Given the description of an element on the screen output the (x, y) to click on. 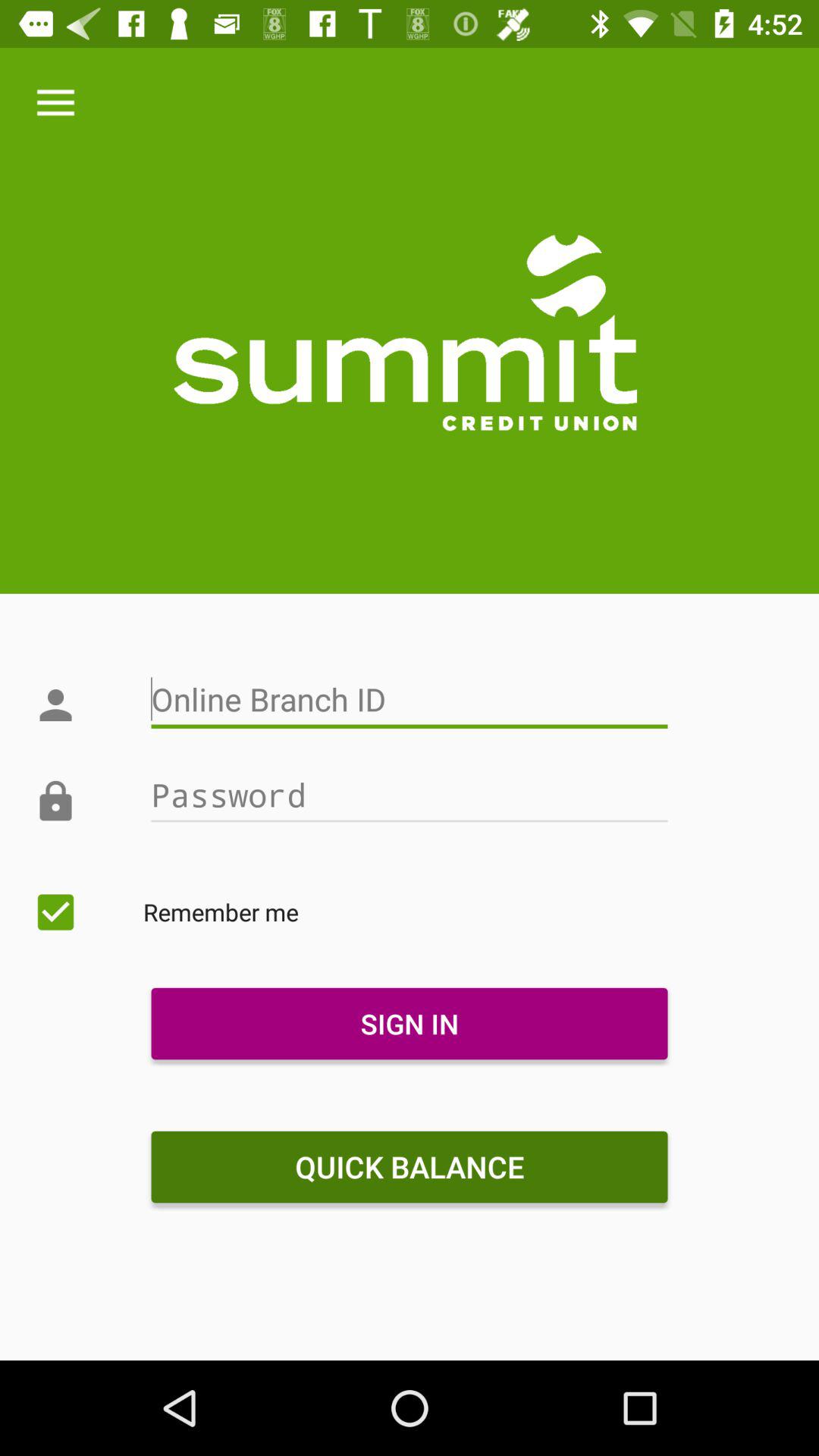
open quick balance item (409, 1166)
